Given the description of an element on the screen output the (x, y) to click on. 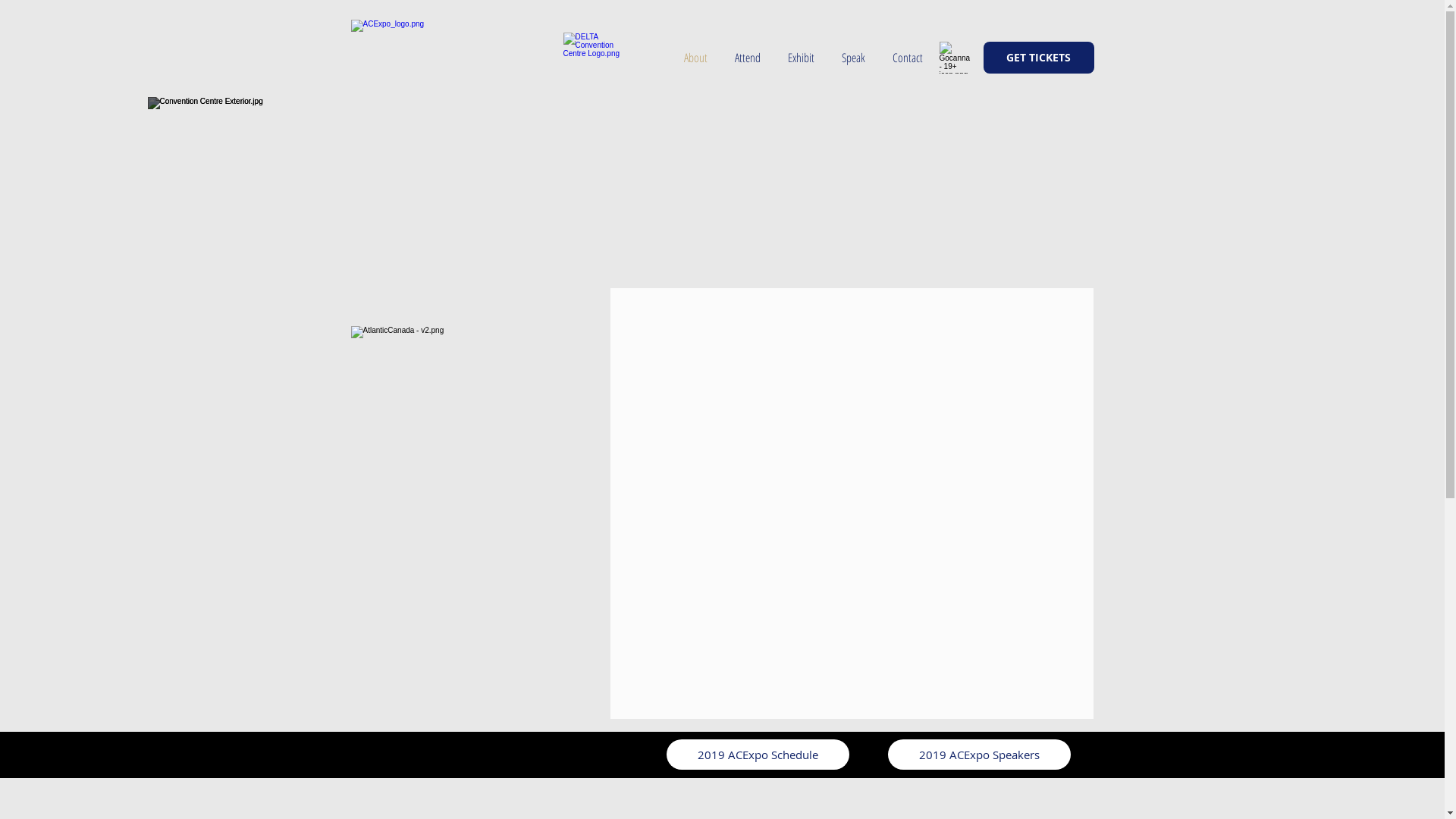
Contact Element type: text (901, 57)
2019 ACExpo Speakers Element type: text (978, 754)
Speak Element type: text (853, 57)
About Element type: text (700, 57)
2019 ACExpo Schedule Element type: text (756, 754)
Embedded Content Element type: hover (837, 18)
Exhibit Element type: text (800, 57)
Attend Element type: text (746, 57)
GET TICKETS Element type: text (1037, 57)
